Given the description of an element on the screen output the (x, y) to click on. 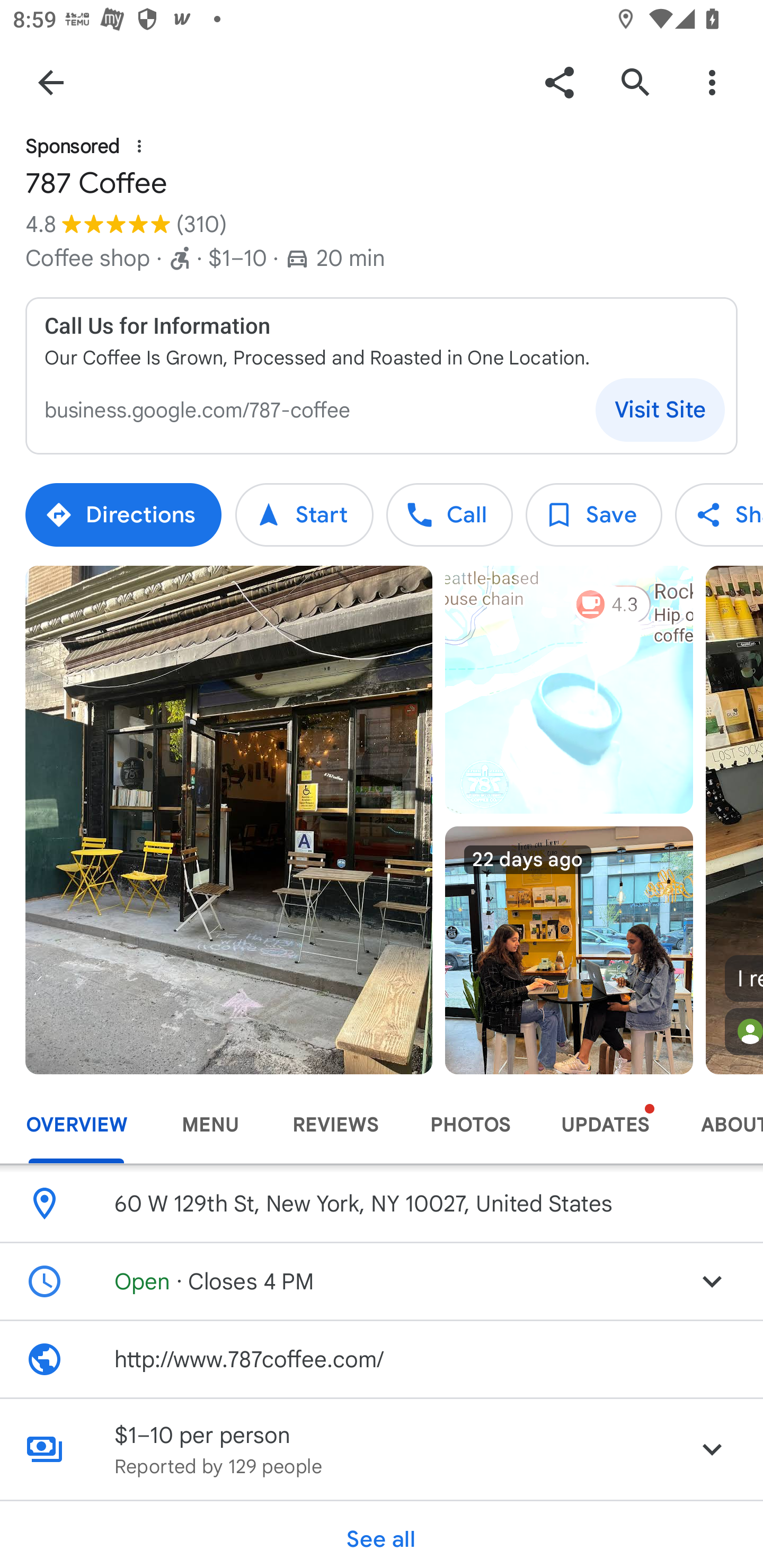
Back to Search (50, 81)
Share (559, 81)
Search (635, 81)
More options for 787 Coffee (711, 81)
About this ad (139, 145)
Start Start Start (304, 514)
Share 787 Coffee Share Share 787 Coffee (719, 514)
Photo (228, 820)
Video (568, 689)
Photo uploaded 22 days ago (568, 950)
MENU Menu (209, 1124)
REVIEWS Reviews (335, 1124)
PHOTOS Photos (469, 1124)
UPDATES Updates New updates in Updates (605, 1124)
ABOUT About (719, 1124)
Open ⋅ Closes 4 PM Open Hours: Open ⋅ Closes 4 PM (381, 1281)
